Given the description of an element on the screen output the (x, y) to click on. 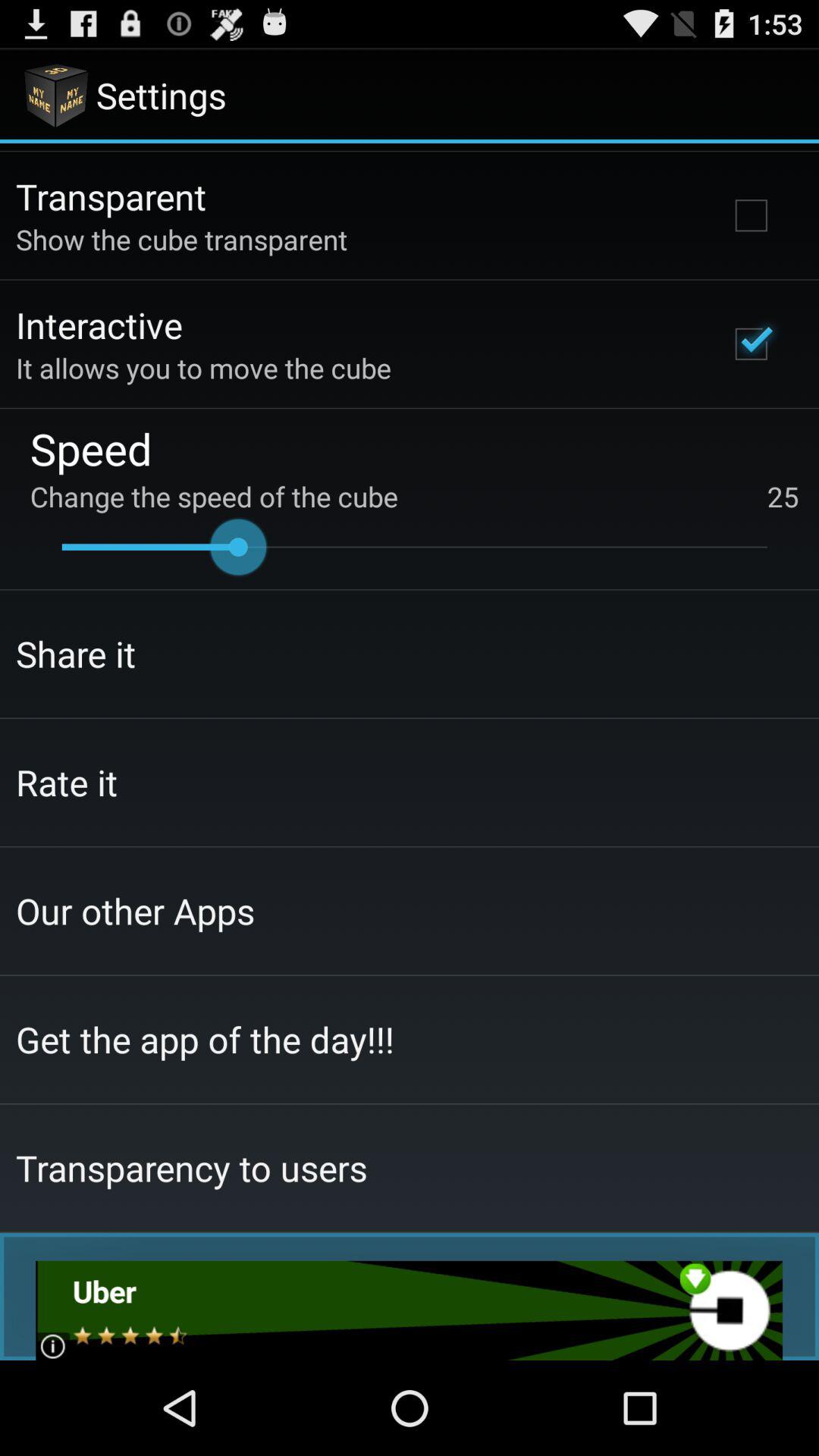
scroll until the 25 (783, 496)
